Given the description of an element on the screen output the (x, y) to click on. 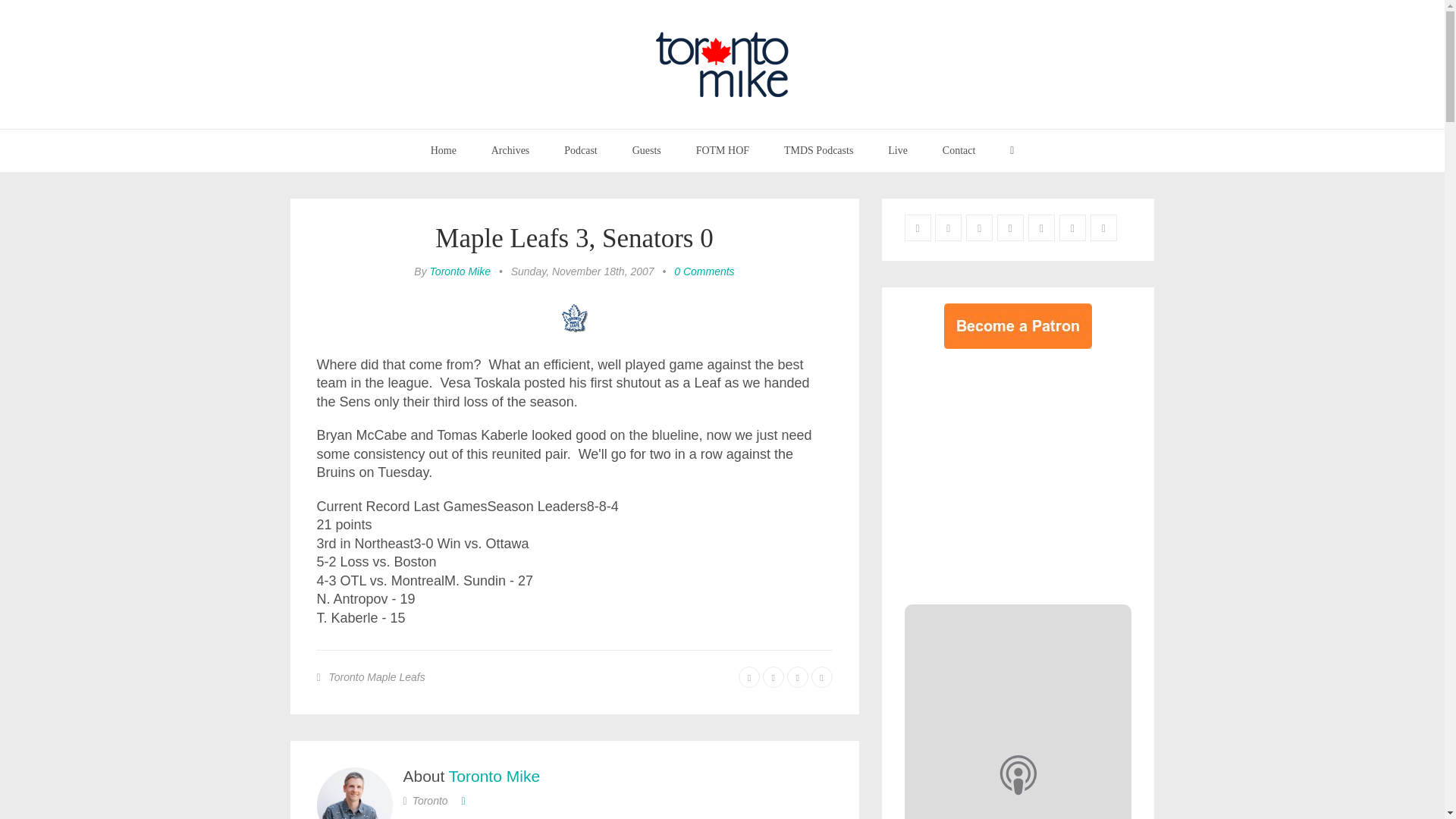
TMDS Podcasts (818, 150)
Toronto Mike (459, 271)
a Patron (644, 818)
Toronto MIke'd (542, 818)
FOTM HOF (722, 150)
Podcast (580, 150)
Advertisement (1031, 472)
Live (897, 150)
Toronto Mike (494, 775)
